Given the description of an element on the screen output the (x, y) to click on. 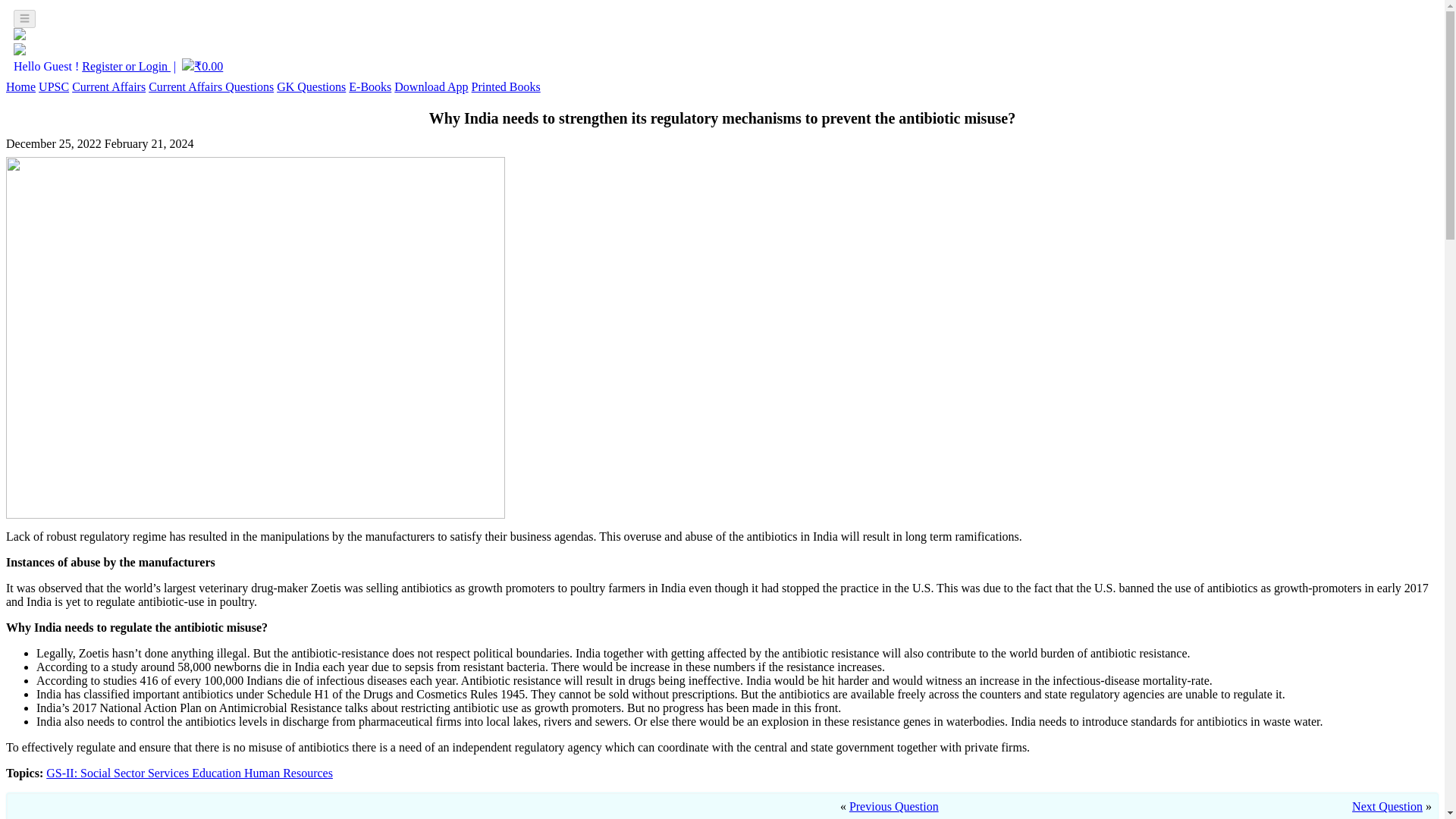
UPSC (53, 86)
Printed Books (505, 86)
Download App (430, 86)
Previous Question (893, 806)
Next Question (1387, 806)
Current Affairs (108, 86)
Current Affairs Questions (210, 86)
Home (19, 86)
E-Books (370, 86)
Register or Login (125, 65)
GK Questions (311, 86)
GS-II: Social Sector Services Education Human Resources (189, 772)
